Given the description of an element on the screen output the (x, y) to click on. 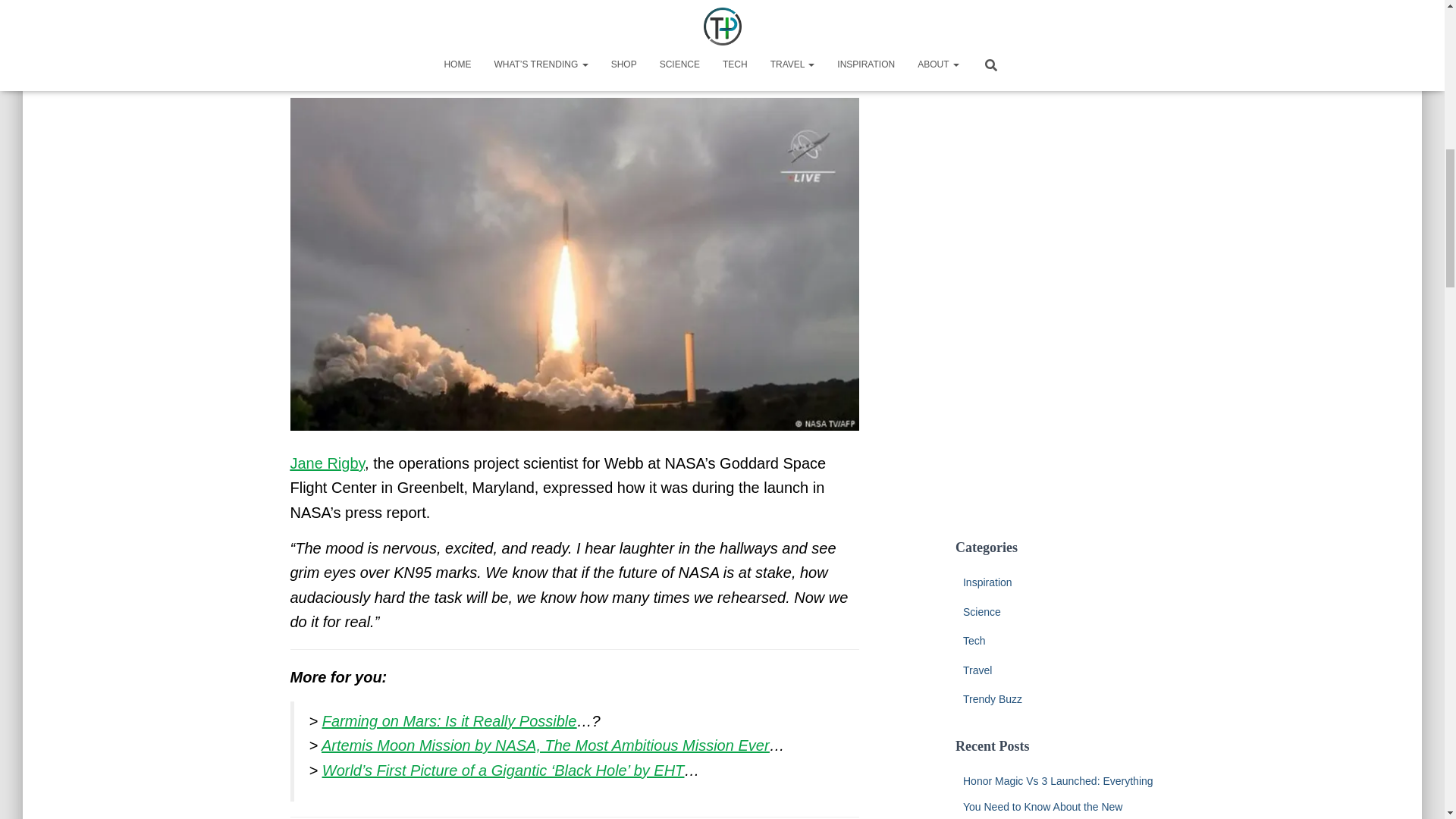
Farming on Mars: Is it Really Possible (448, 720)
Jane Rigby (327, 463)
